Given the description of an element on the screen output the (x, y) to click on. 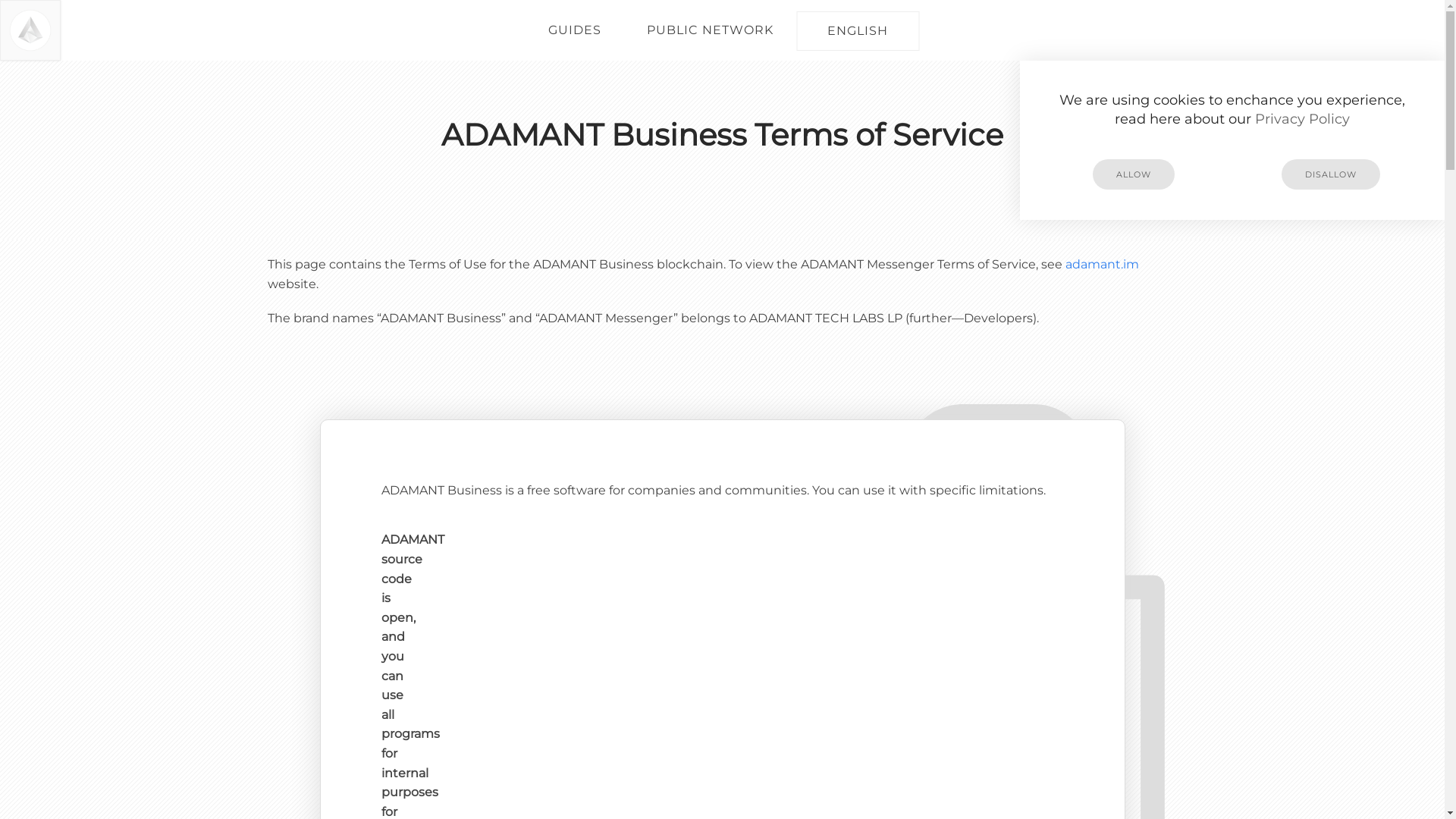
PUBLIC NETWORK Element type: text (710, 30)
GUIDES Element type: text (574, 30)
ENGLISH Element type: text (857, 31)
adamant.im Element type: text (1101, 264)
ALLOW Element type: text (1133, 174)
DISALLOW Element type: text (1330, 174)
Privacy Policy Element type: text (1302, 118)
